Given the description of an element on the screen output the (x, y) to click on. 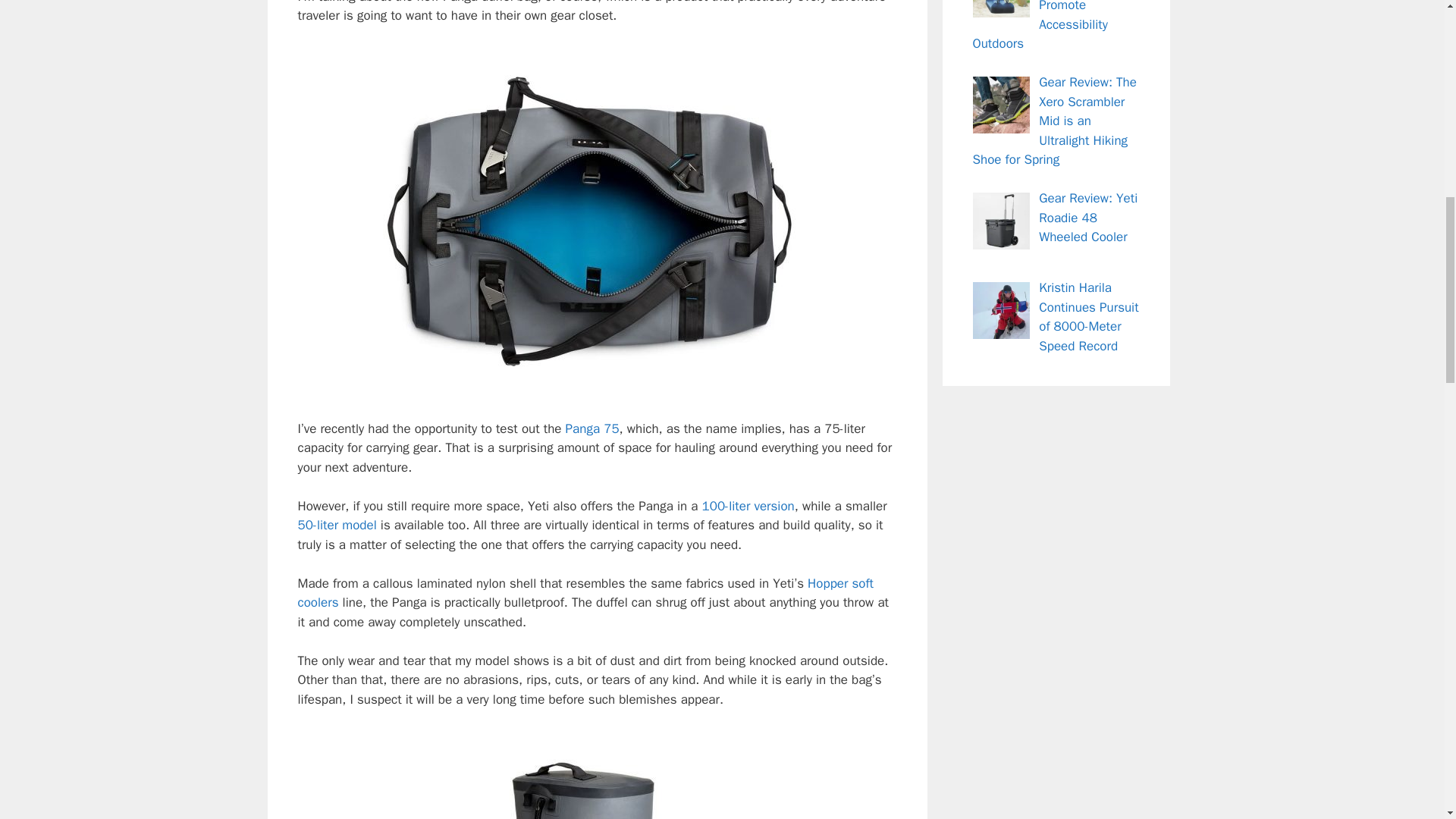
Panga 75 (593, 428)
50-liter model (336, 524)
Hopper soft coolers (585, 592)
100-liter version (747, 505)
